Given the description of an element on the screen output the (x, y) to click on. 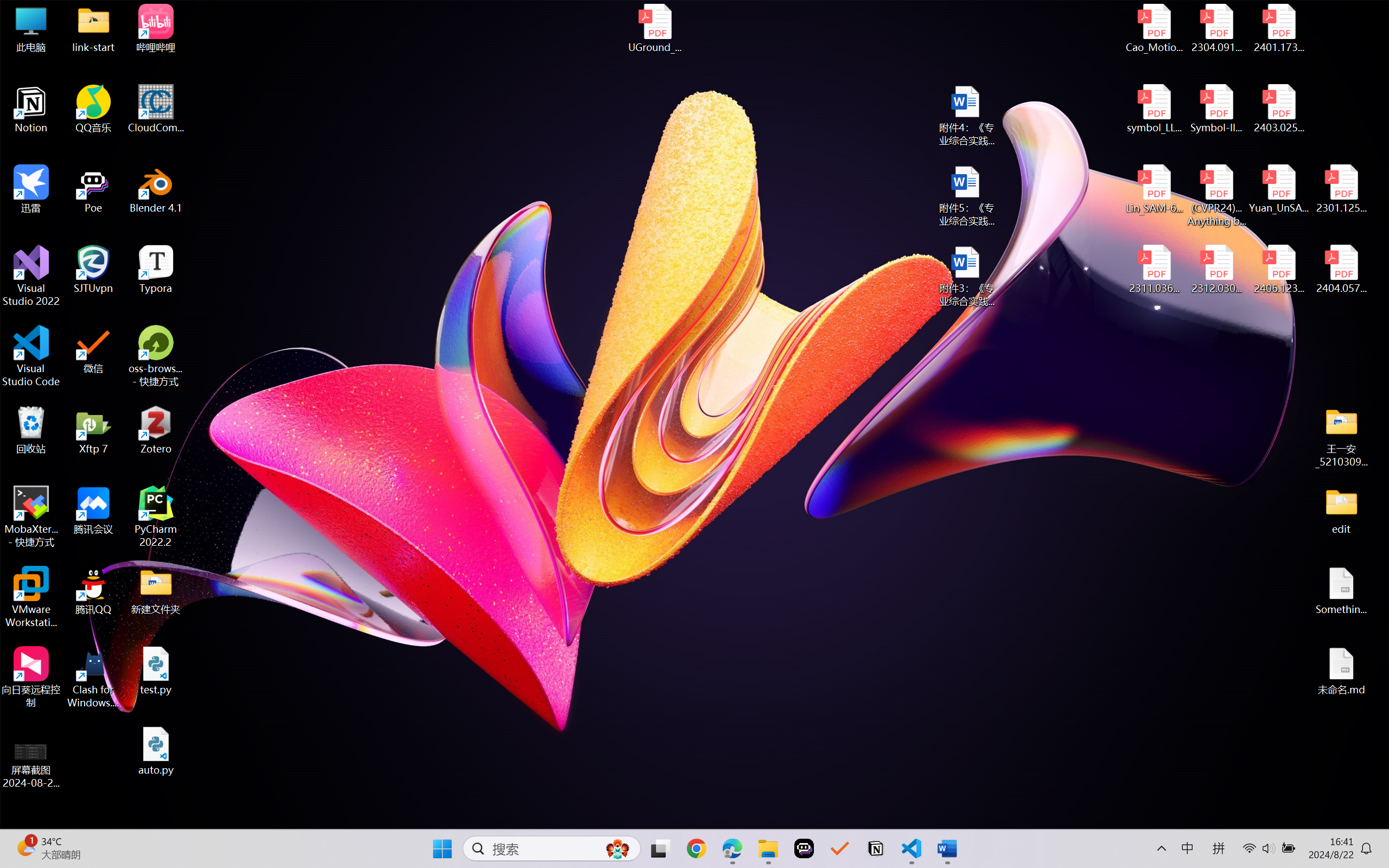
Google Chrome (696, 848)
auto.py (156, 751)
Something.md (1340, 591)
2406.12373v2.pdf (1278, 269)
